Given the description of an element on the screen output the (x, y) to click on. 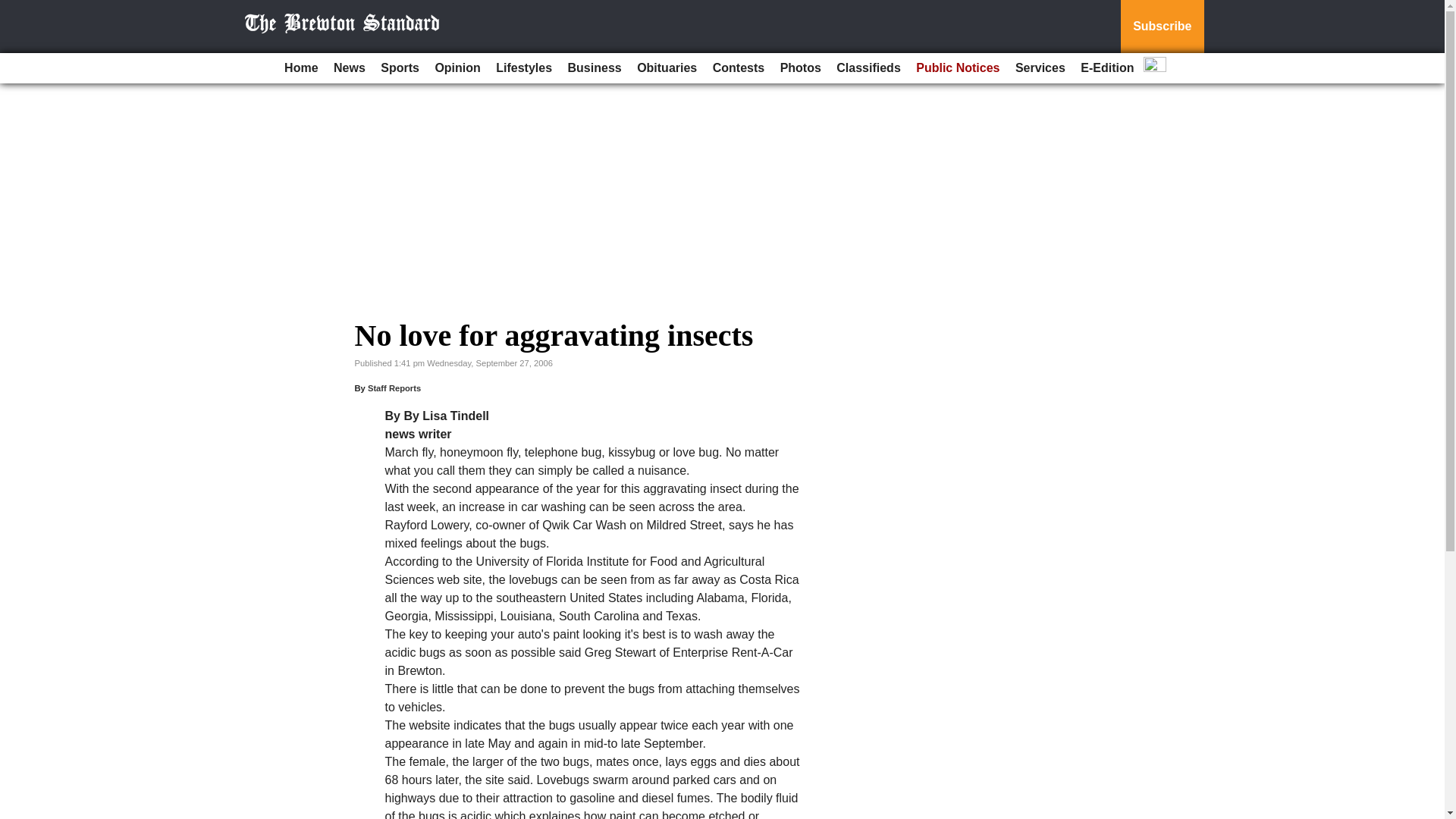
Lifestyles (523, 68)
Opinion (457, 68)
Photos (800, 68)
Classifieds (867, 68)
Home (300, 68)
Business (594, 68)
News (349, 68)
Public Notices (958, 68)
Obituaries (666, 68)
Go (13, 9)
